Given the description of an element on the screen output the (x, y) to click on. 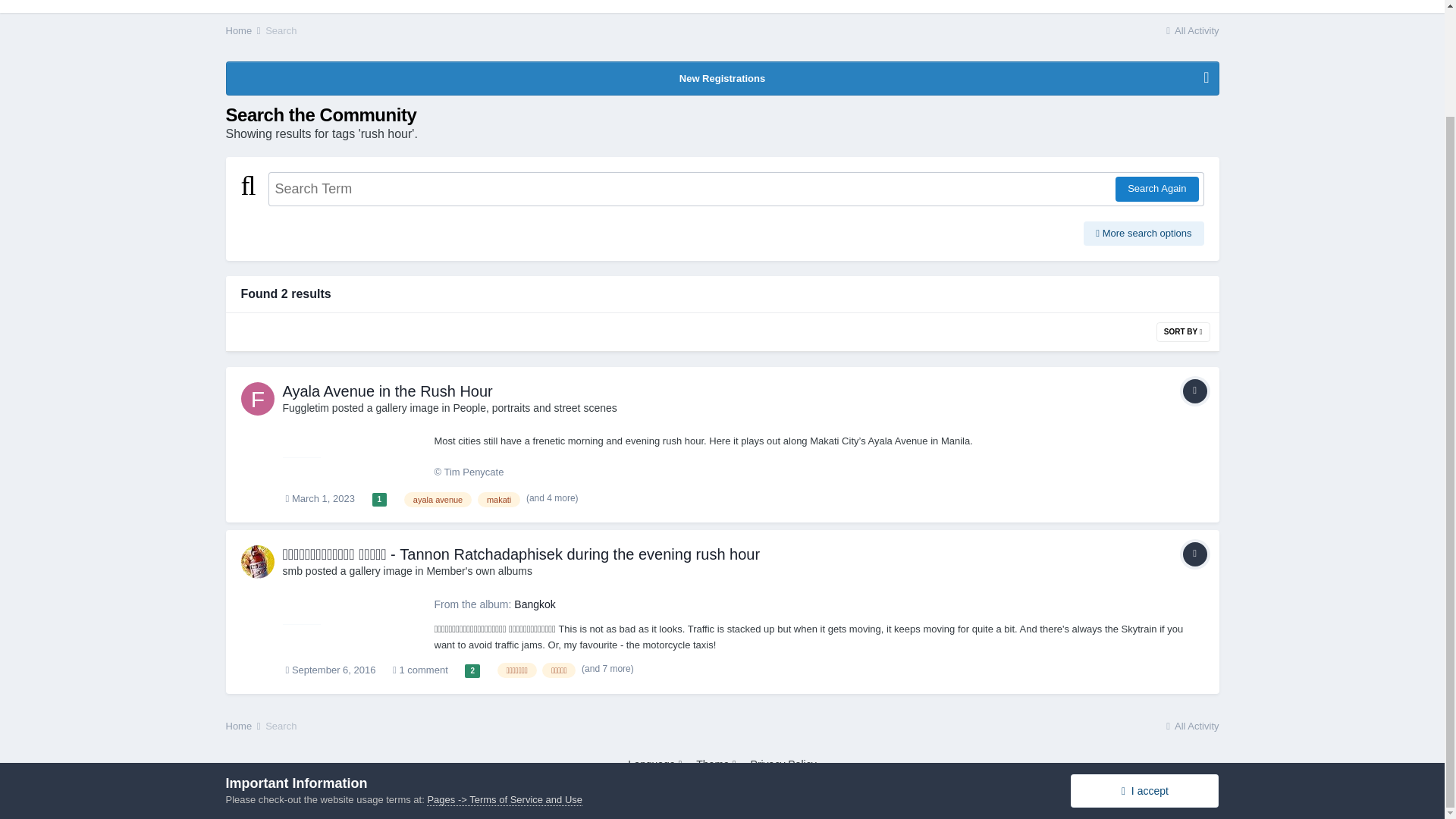
Gallery Image (1194, 391)
All Activity (249, 6)
Unread Content (447, 6)
Content I Started (546, 6)
Go to Fuggletim's profile (305, 408)
Search (627, 6)
Find other content tagged with 'makati' (498, 499)
Go to smb's profile (291, 571)
Home (244, 30)
Go to smb's profile (258, 561)
